Given the description of an element on the screen output the (x, y) to click on. 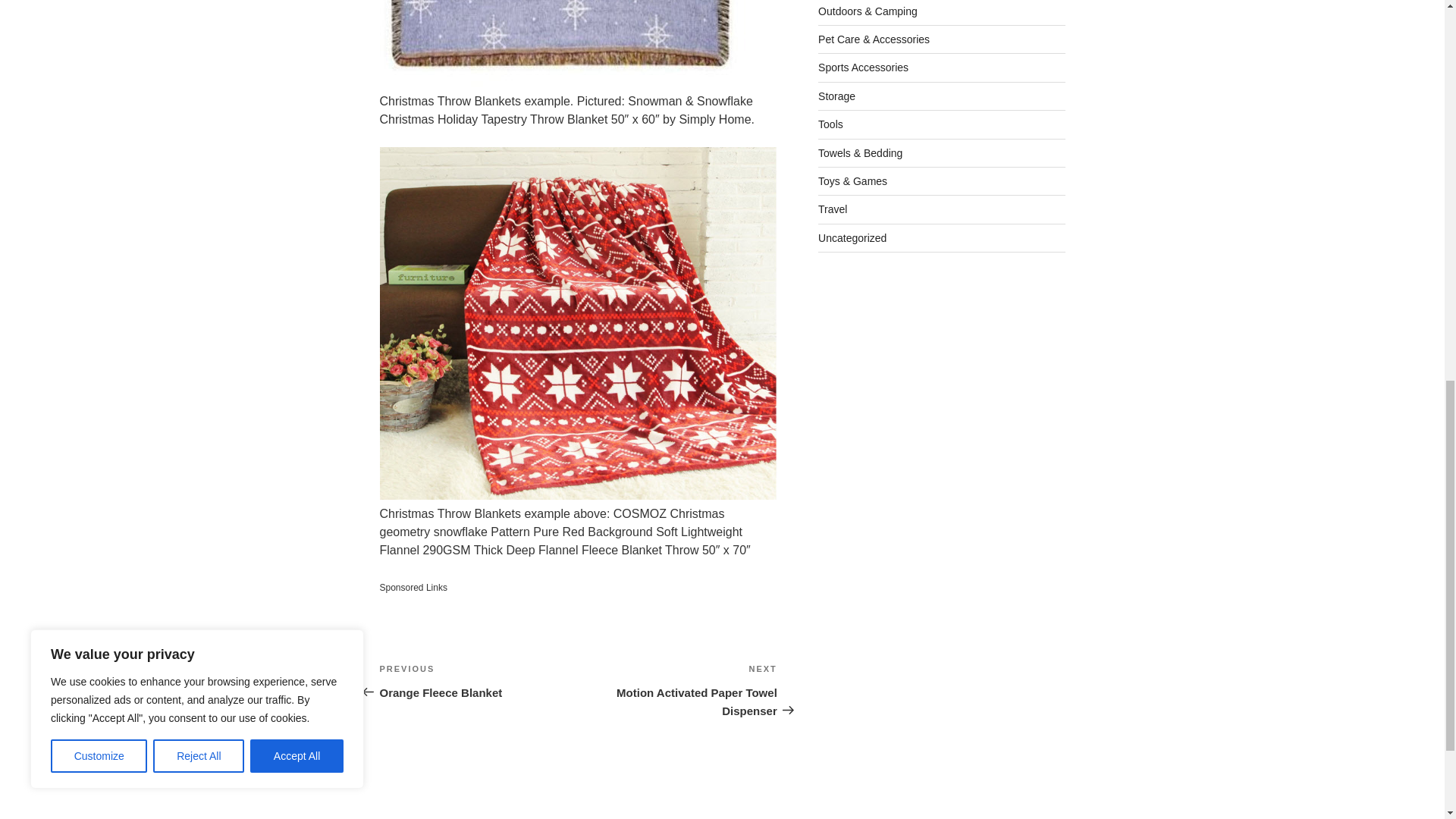
Christmas Throw Blankets (561, 43)
